Given the description of an element on the screen output the (x, y) to click on. 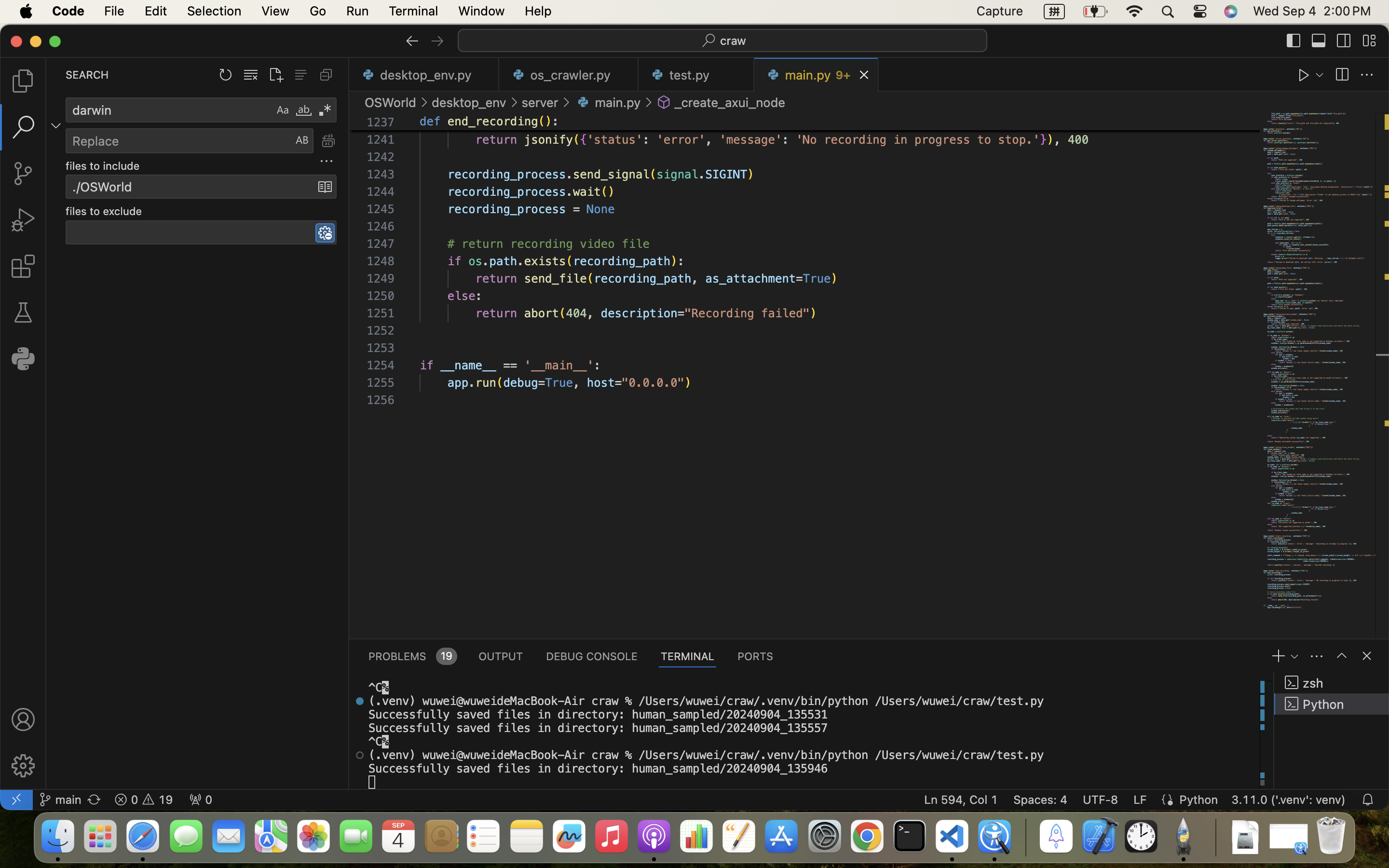
main  Element type: AXButton (59, 799)
 Element type: AXCheckBox (1293, 40)
0  Element type: AXRadioButton (23, 173)
server Element type: AXGroup (539, 101)
0  Element type: AXRadioButton (23, 80)
